Given the description of an element on the screen output the (x, y) to click on. 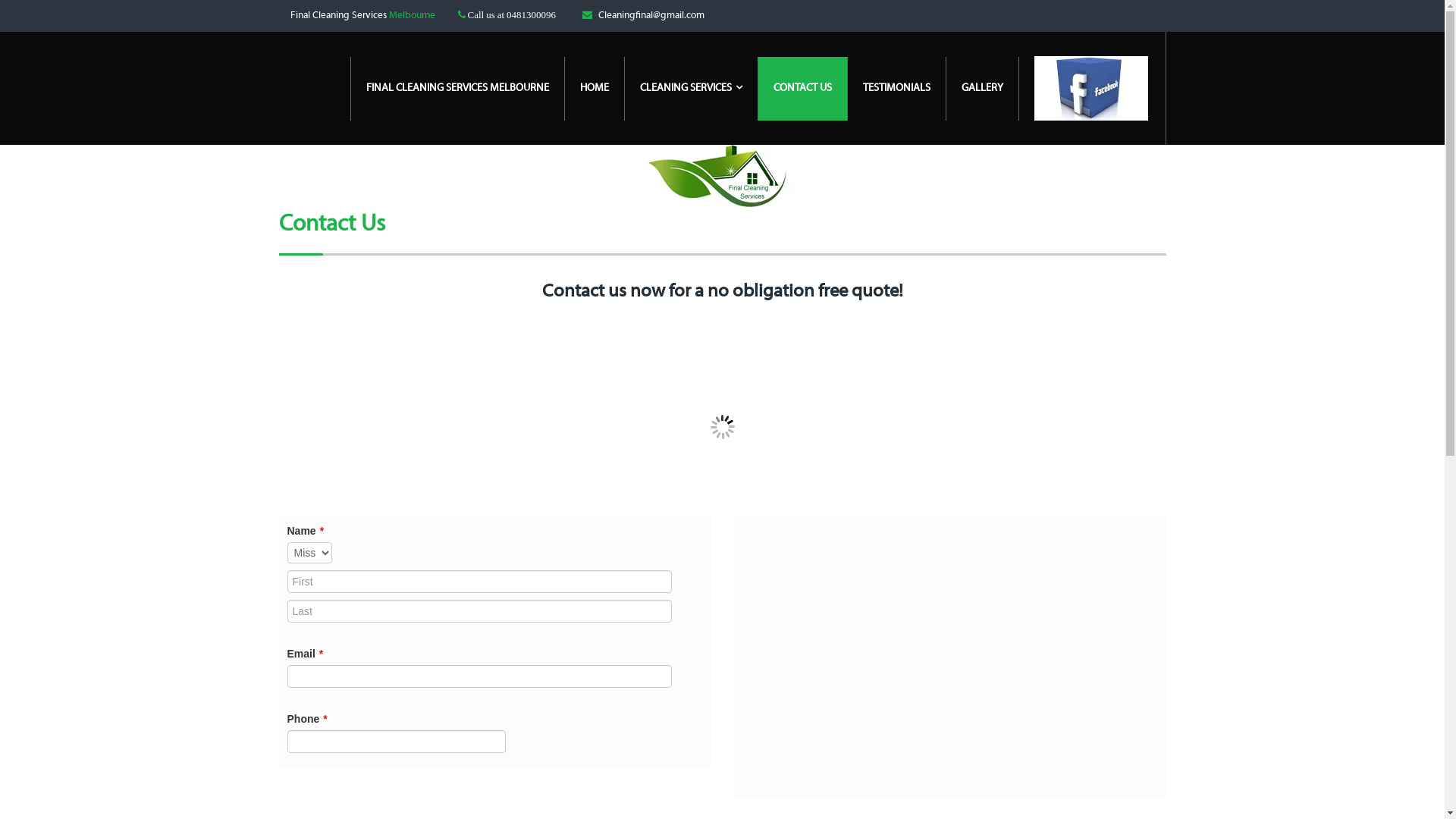
Final Cleaning Services Melbourne Element type: text (361, 15)
Contact Us Element type: text (332, 224)
CLEANING SERVICES Element type: text (691, 88)
  Element type: text (1092, 87)
Call us at 0481300096 Element type: text (511, 14)
Cleaningfinal@gmail.com Element type: text (651, 15)
HOME Element type: text (594, 88)
CONTACT US Element type: text (802, 88)
TESTIMONIALS Element type: text (896, 88)
FINAL CLEANING SERVICES MELBOURNE Element type: text (457, 88)
GALLERY Element type: text (982, 88)
